Given the description of an element on the screen output the (x, y) to click on. 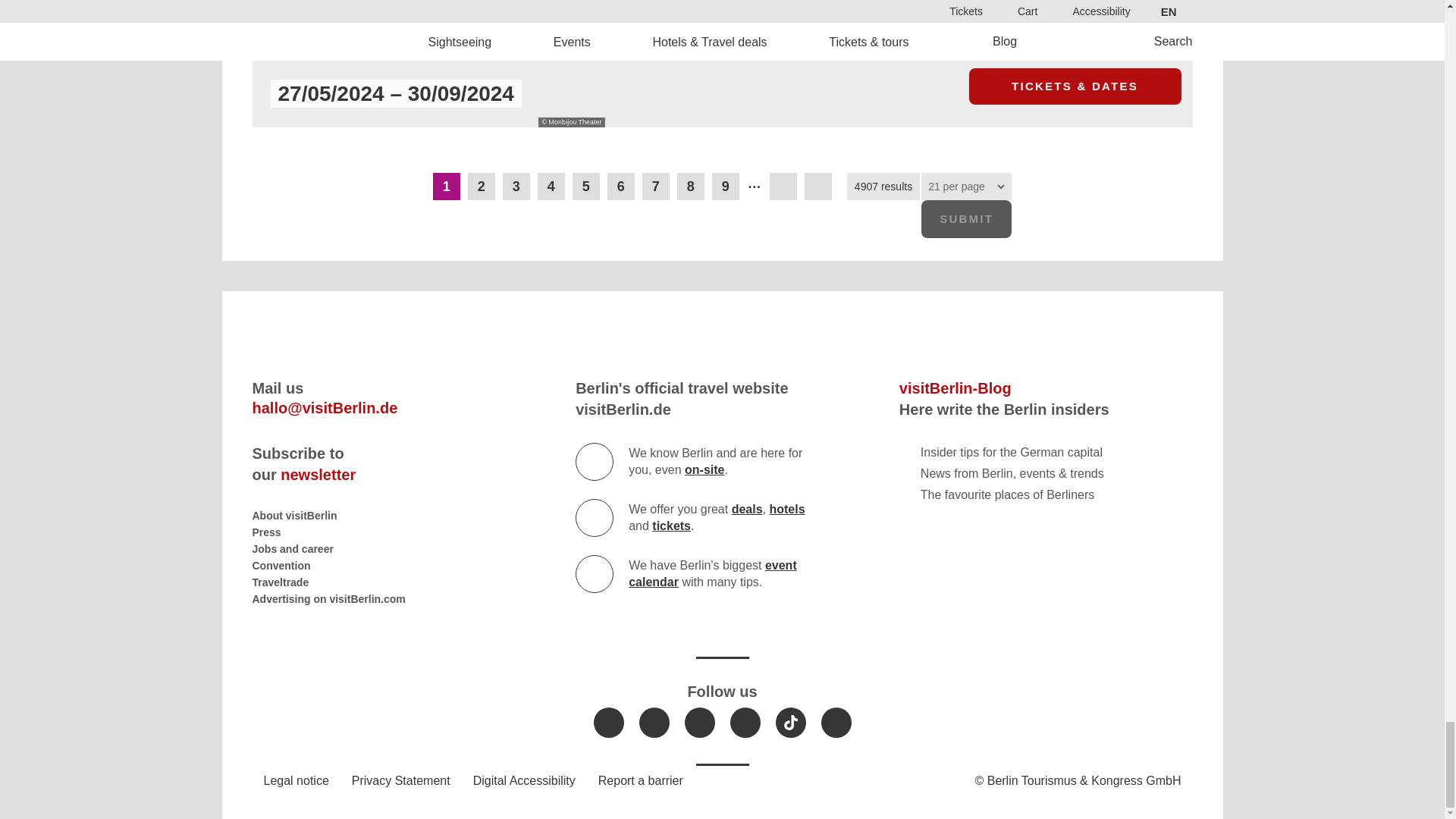
Submit (966, 218)
